Given the description of an element on the screen output the (x, y) to click on. 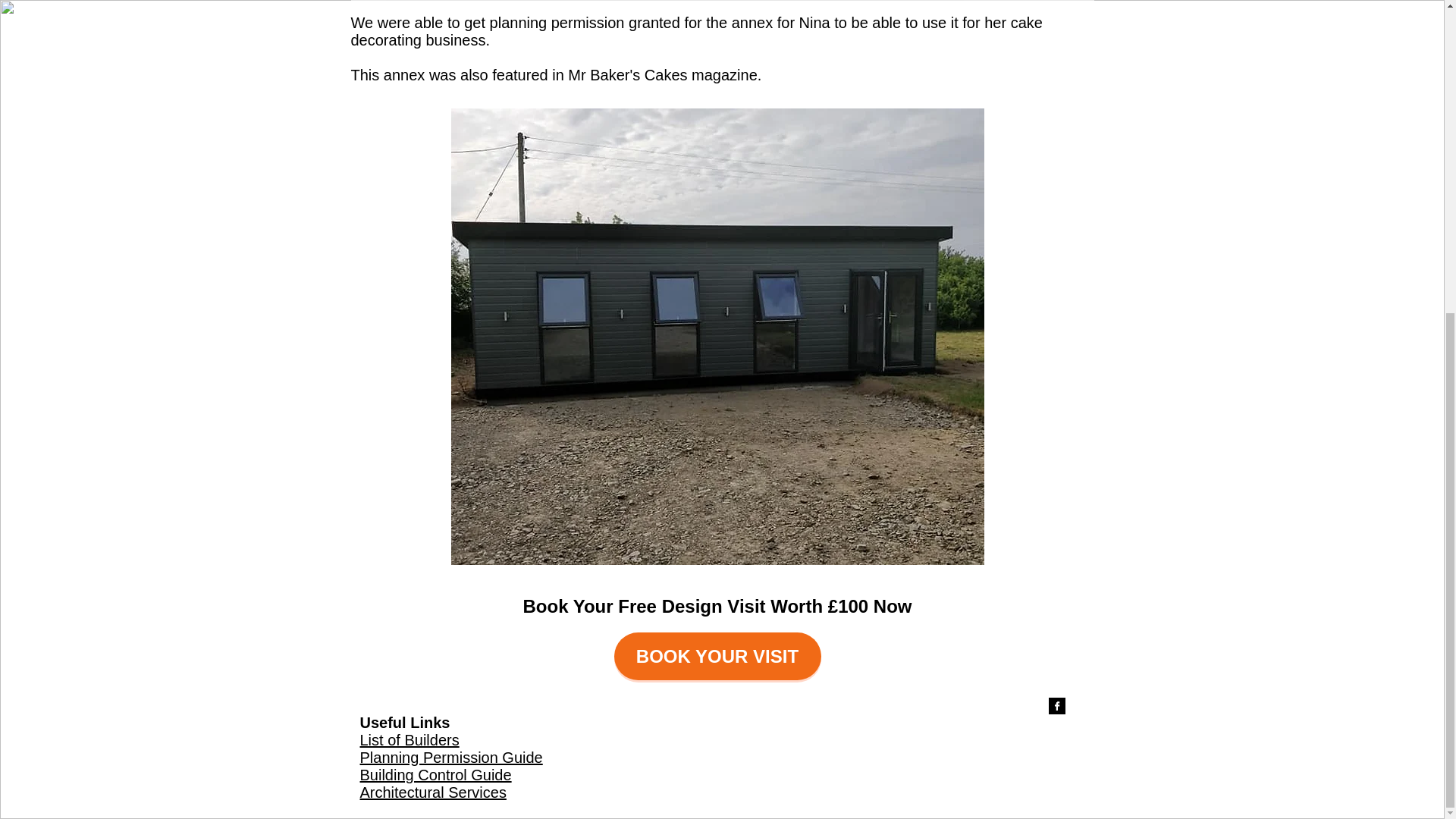
Building Control Guide (435, 774)
Architectural Services (432, 791)
Planning Permission Guide (450, 757)
List of Builders (408, 740)
BOOK YOUR VISIT (717, 656)
